Given the description of an element on the screen output the (x, y) to click on. 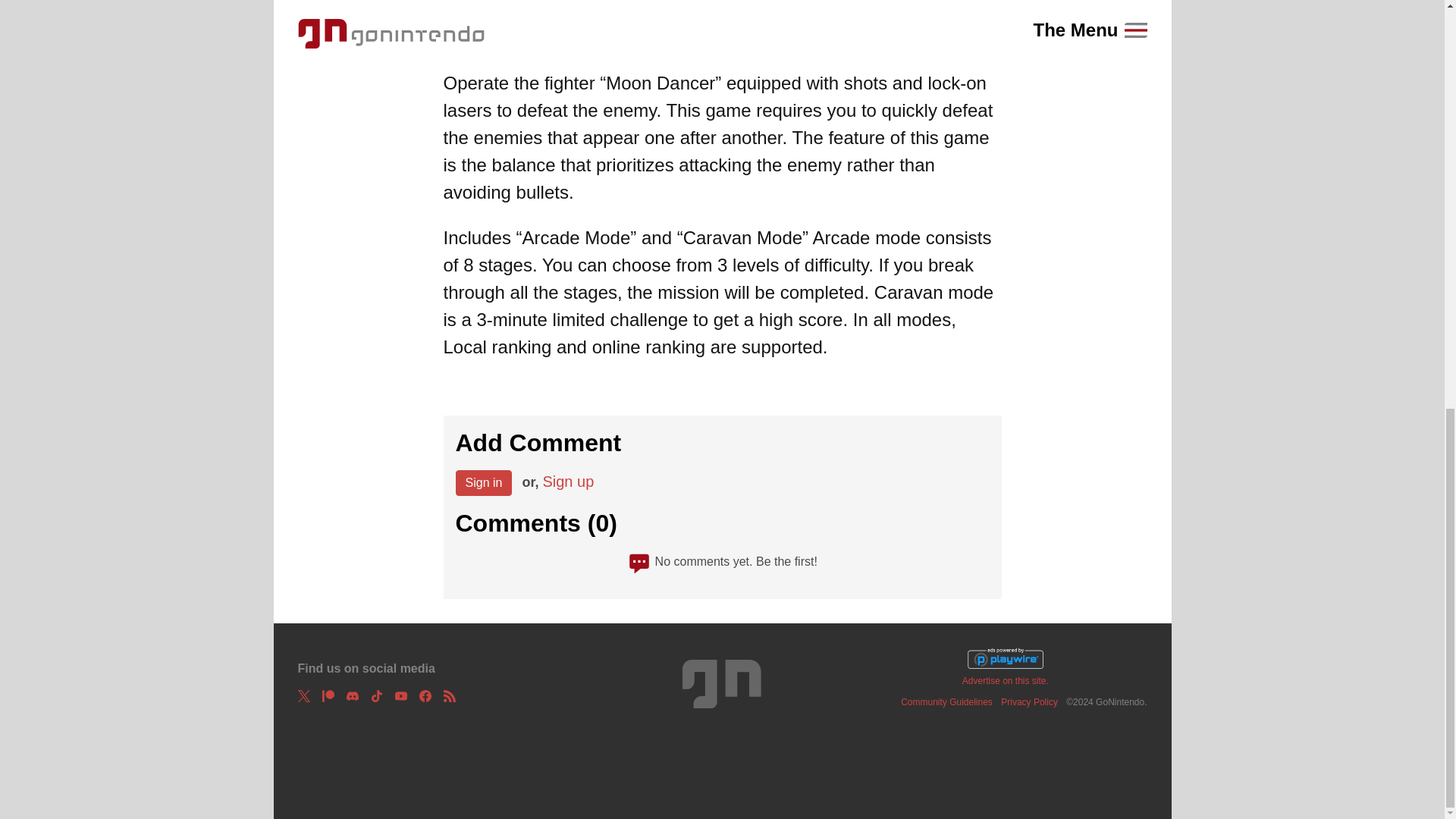
Follow us on X (302, 695)
Discord Invite (352, 695)
Support GN on Patreon (327, 695)
